Given the description of an element on the screen output the (x, y) to click on. 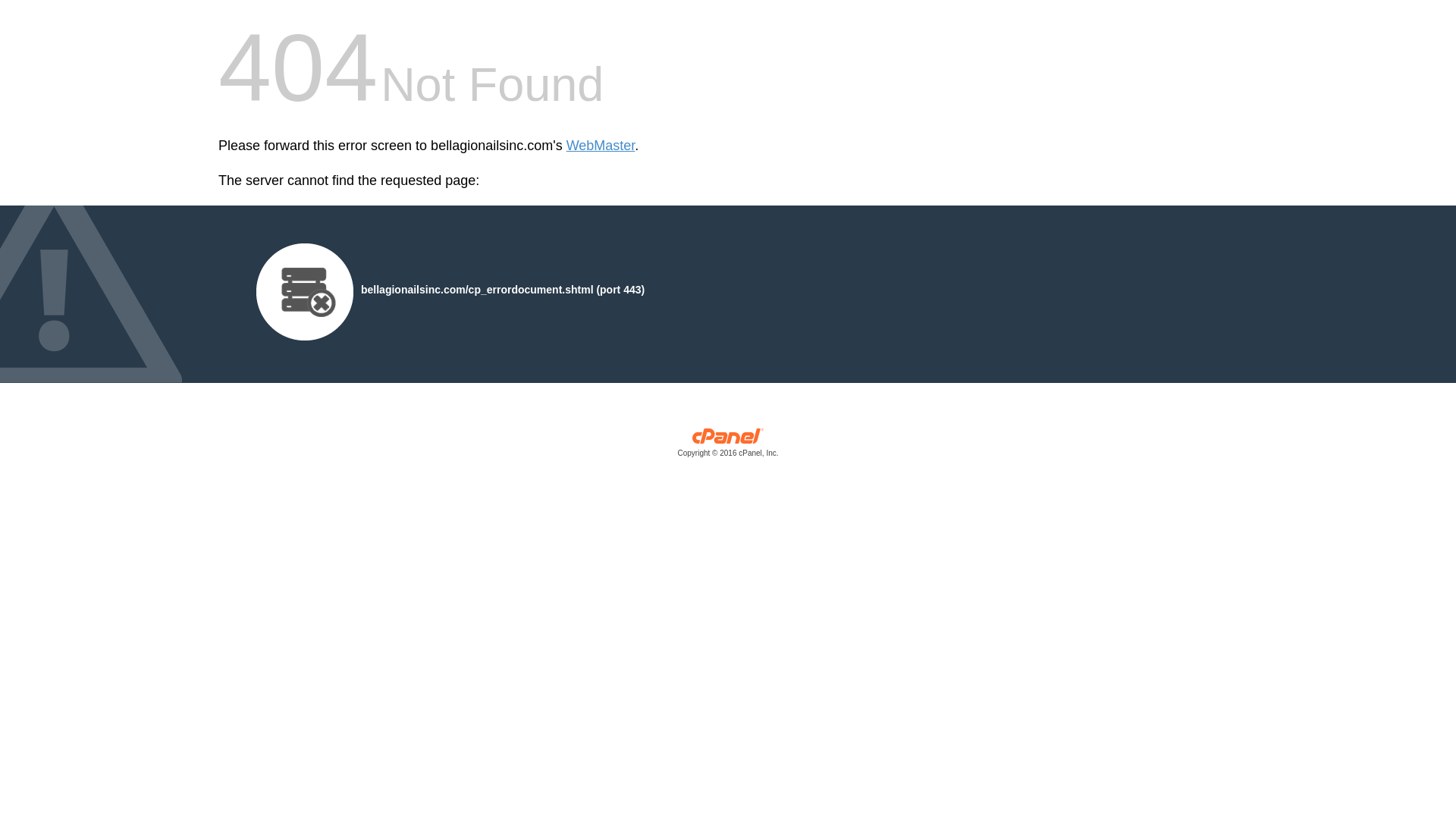
cPanel, Inc. (727, 446)
WebMaster (600, 145)
